Given the description of an element on the screen output the (x, y) to click on. 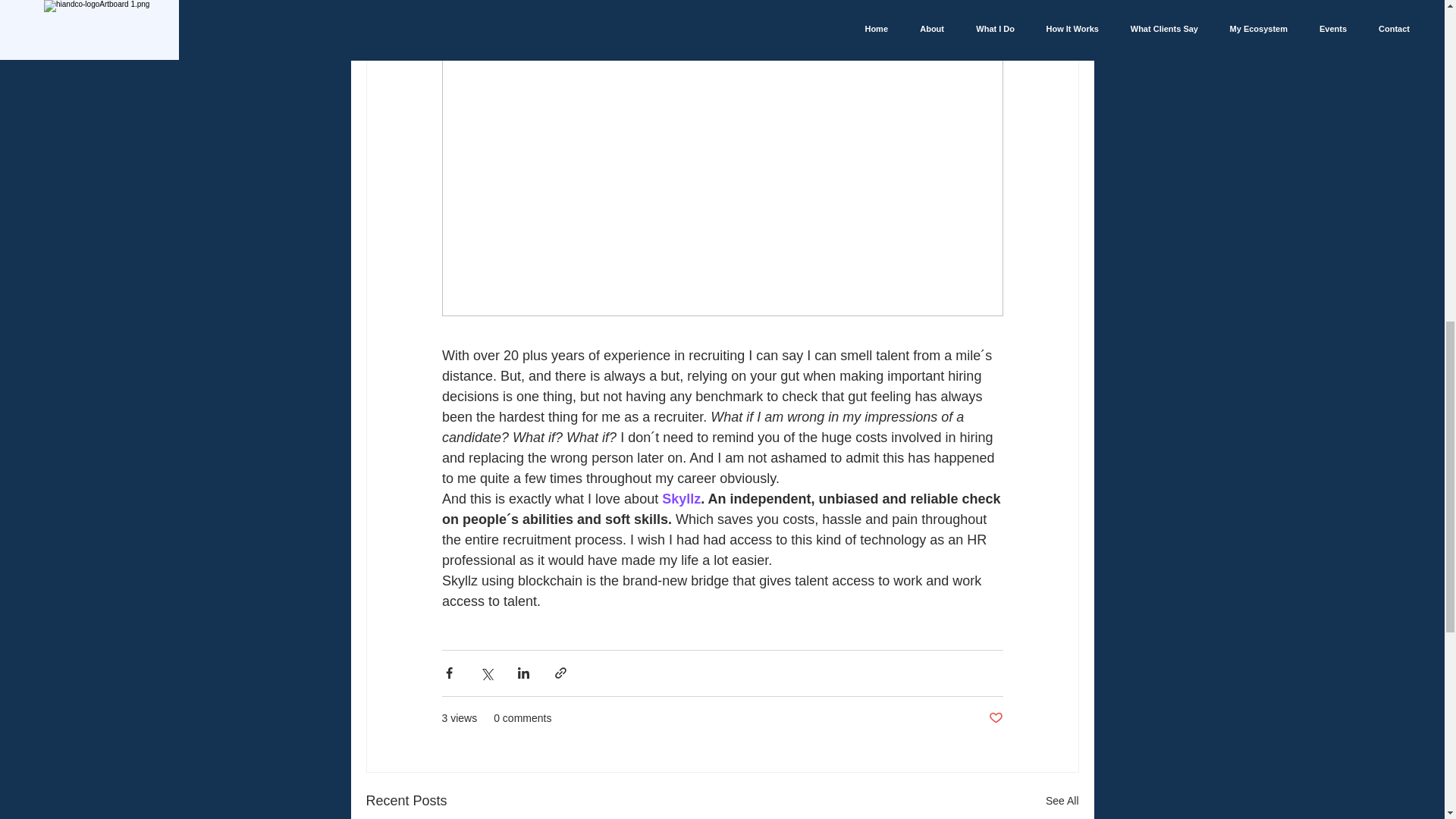
Skyllz (681, 498)
See All (1061, 801)
Post not marked as liked (995, 718)
